Given the description of an element on the screen output the (x, y) to click on. 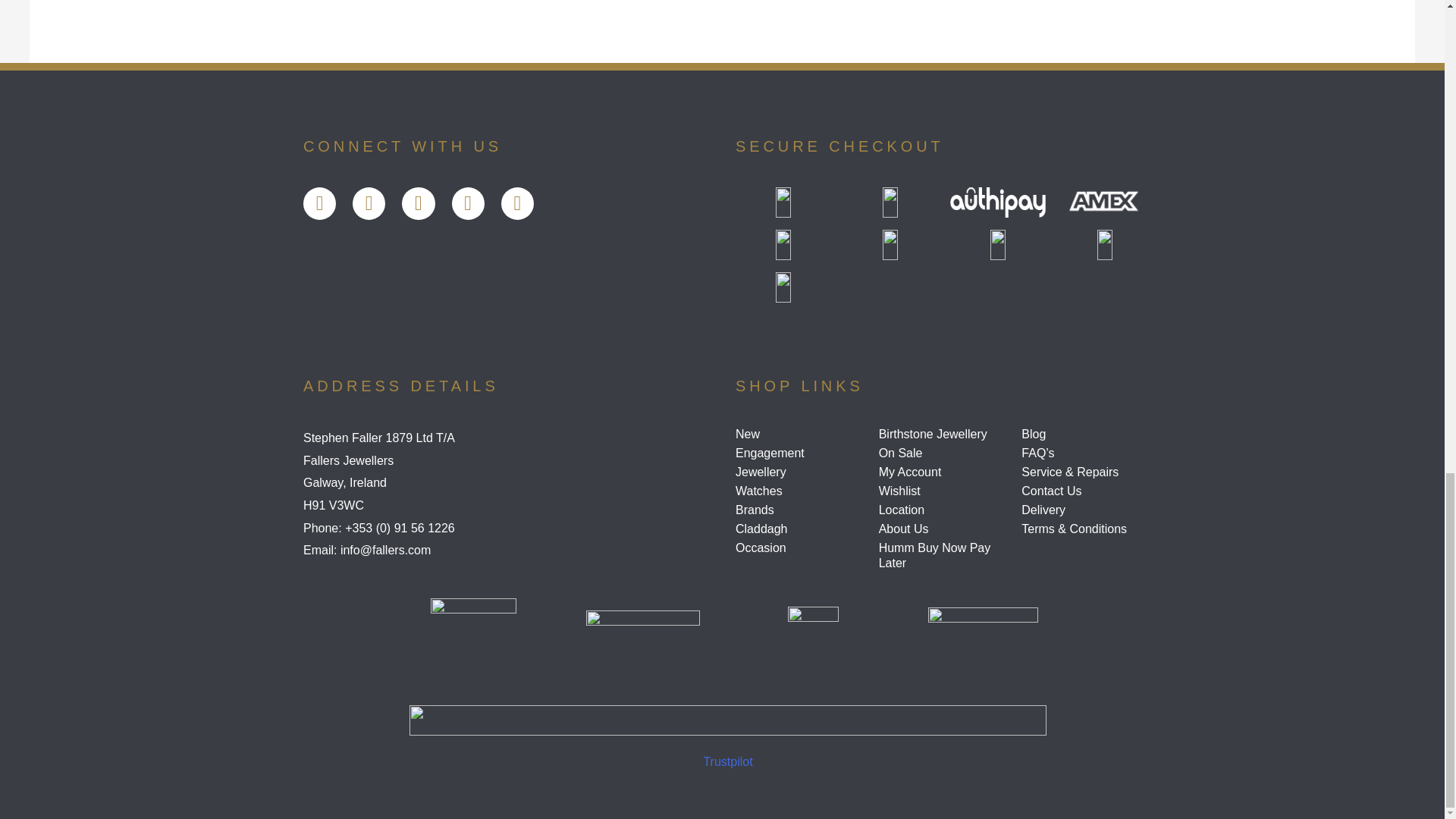
Birthstone Jewellery (944, 434)
Twitter (368, 203)
New (800, 434)
Wishlist (944, 491)
Engagement (800, 453)
Facebook-f (319, 203)
Instagram (467, 203)
Watches (800, 491)
My Account (944, 472)
Jewellery (800, 472)
Pinterest (517, 203)
Occasion (800, 548)
Youtube (417, 203)
Claddagh (800, 529)
Brands (800, 509)
